Given the description of an element on the screen output the (x, y) to click on. 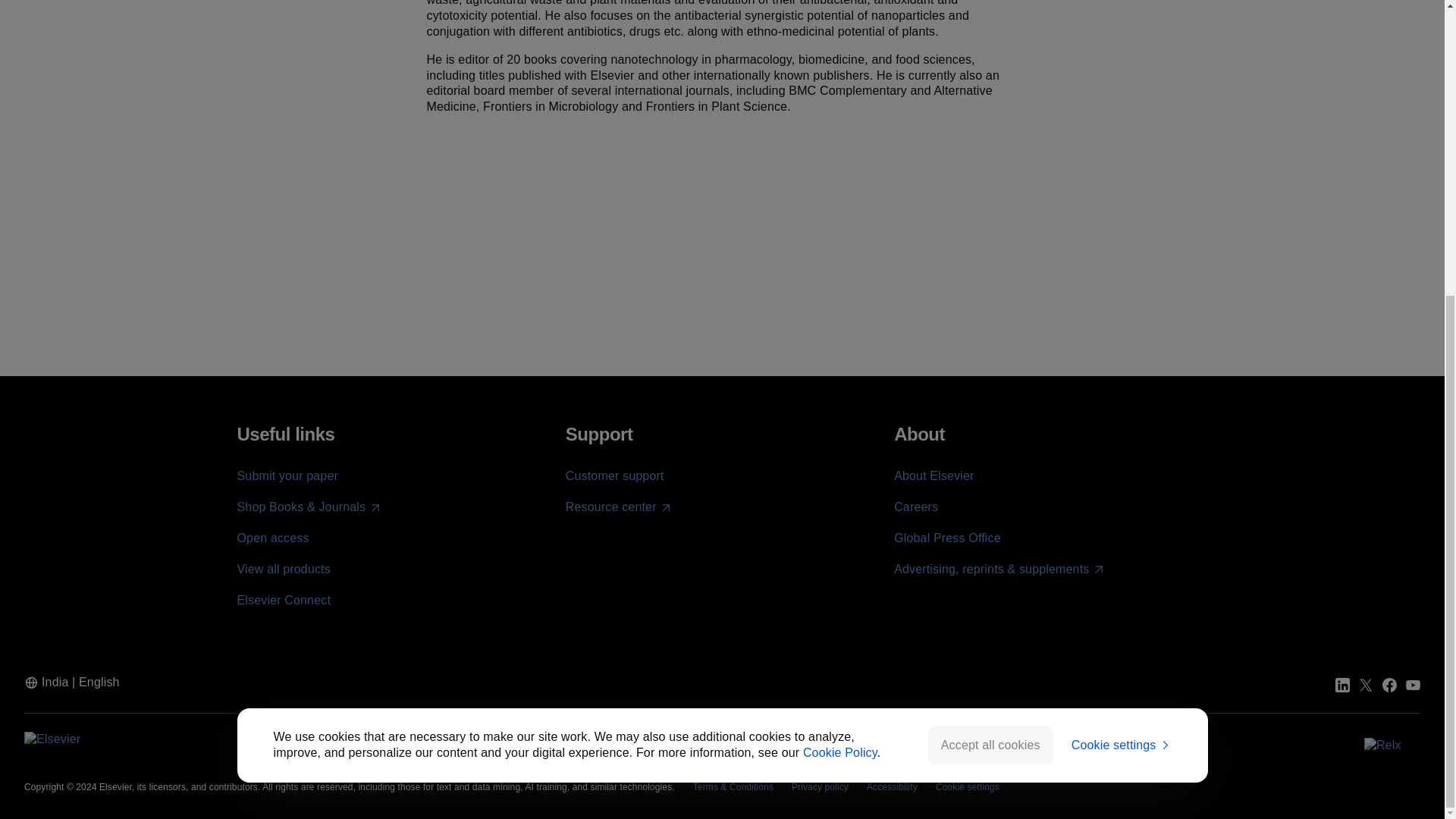
About Elsevier (933, 475)
Accept all cookies (990, 289)
Elsevier Connect (282, 599)
Submit your paper (286, 475)
Cookie Policy (840, 296)
Customer support (614, 475)
Careers (915, 506)
Cookie settings (1121, 289)
Open access (271, 537)
View all products (282, 568)
Resource center (618, 507)
